Given the description of an element on the screen output the (x, y) to click on. 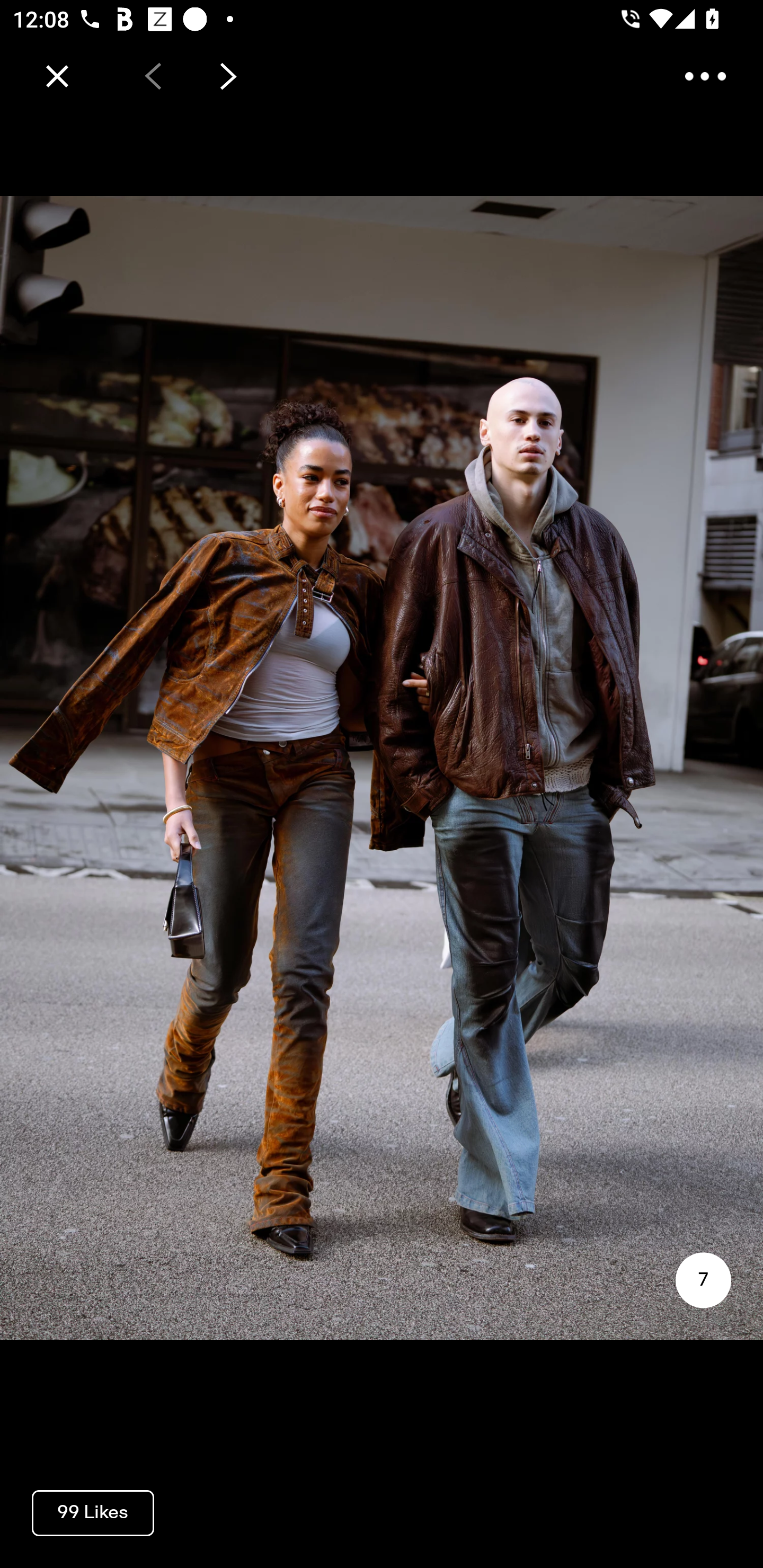
7 (702, 1279)
99 Likes (93, 1512)
